Given the description of an element on the screen output the (x, y) to click on. 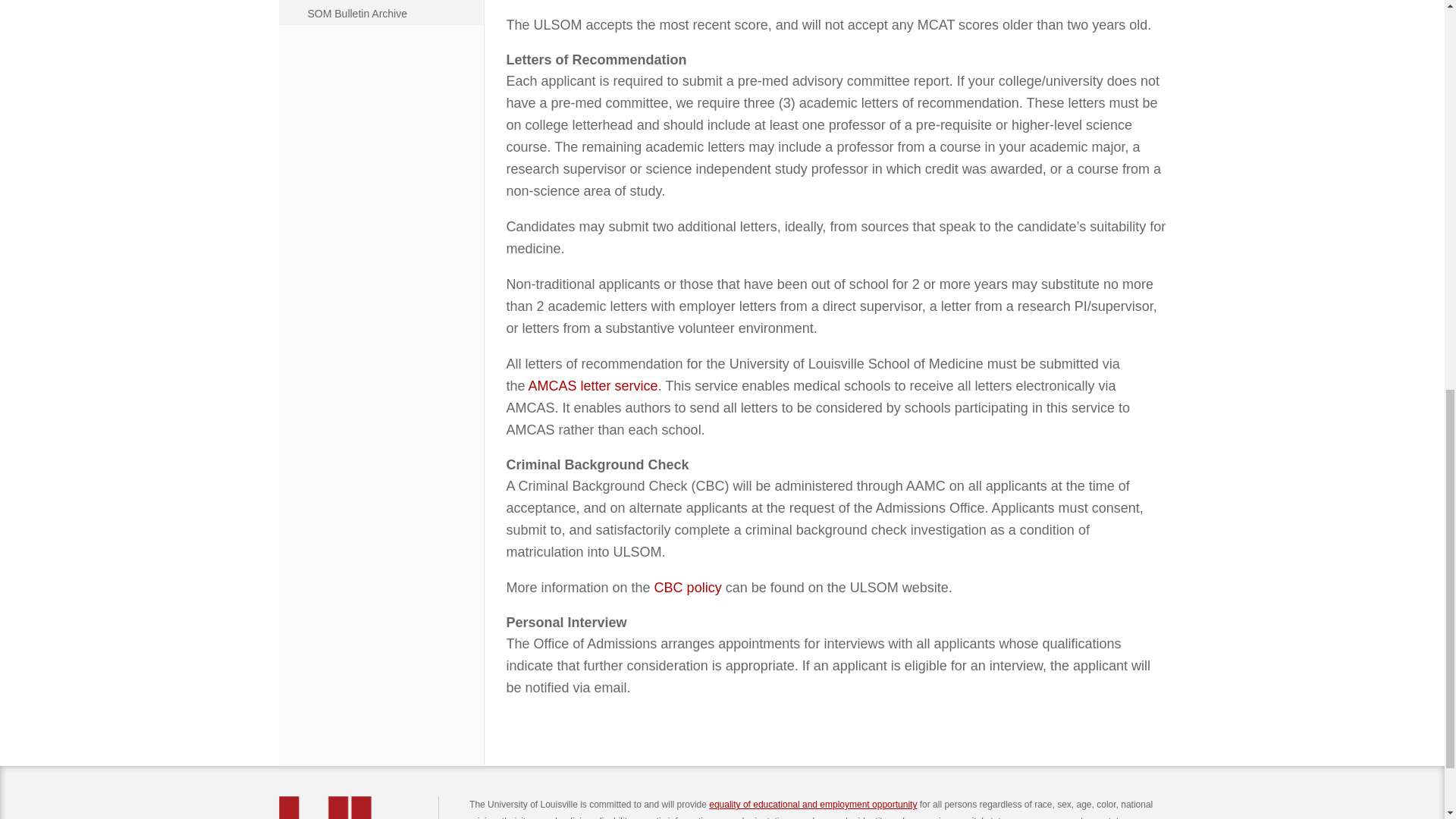
SOM Bulletin Archive (392, 13)
MD Courses A-Z (392, 1)
